Given the description of an element on the screen output the (x, y) to click on. 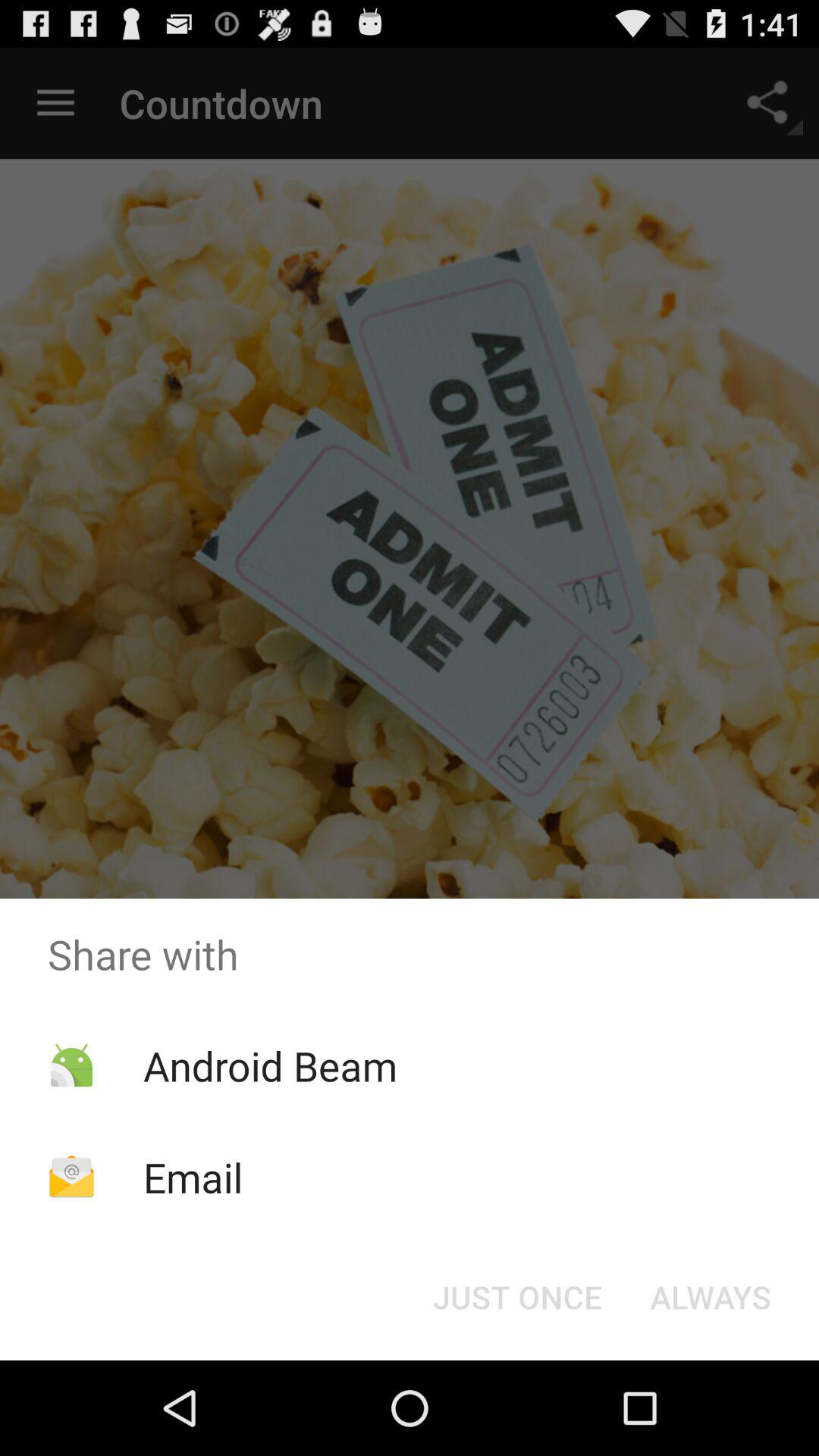
jump to the email item (192, 1176)
